Given the description of an element on the screen output the (x, y) to click on. 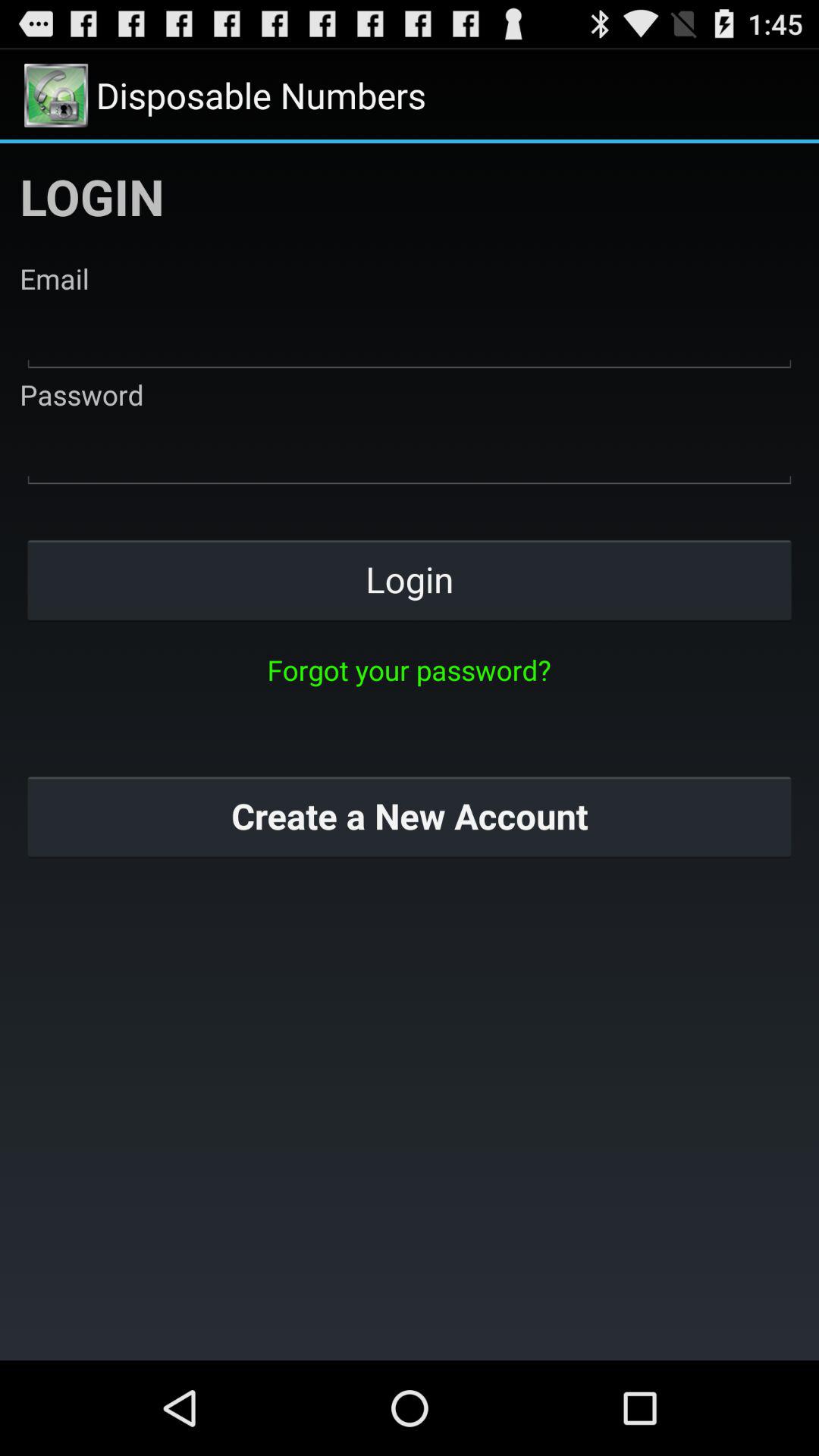
enter the password (409, 452)
